Given the description of an element on the screen output the (x, y) to click on. 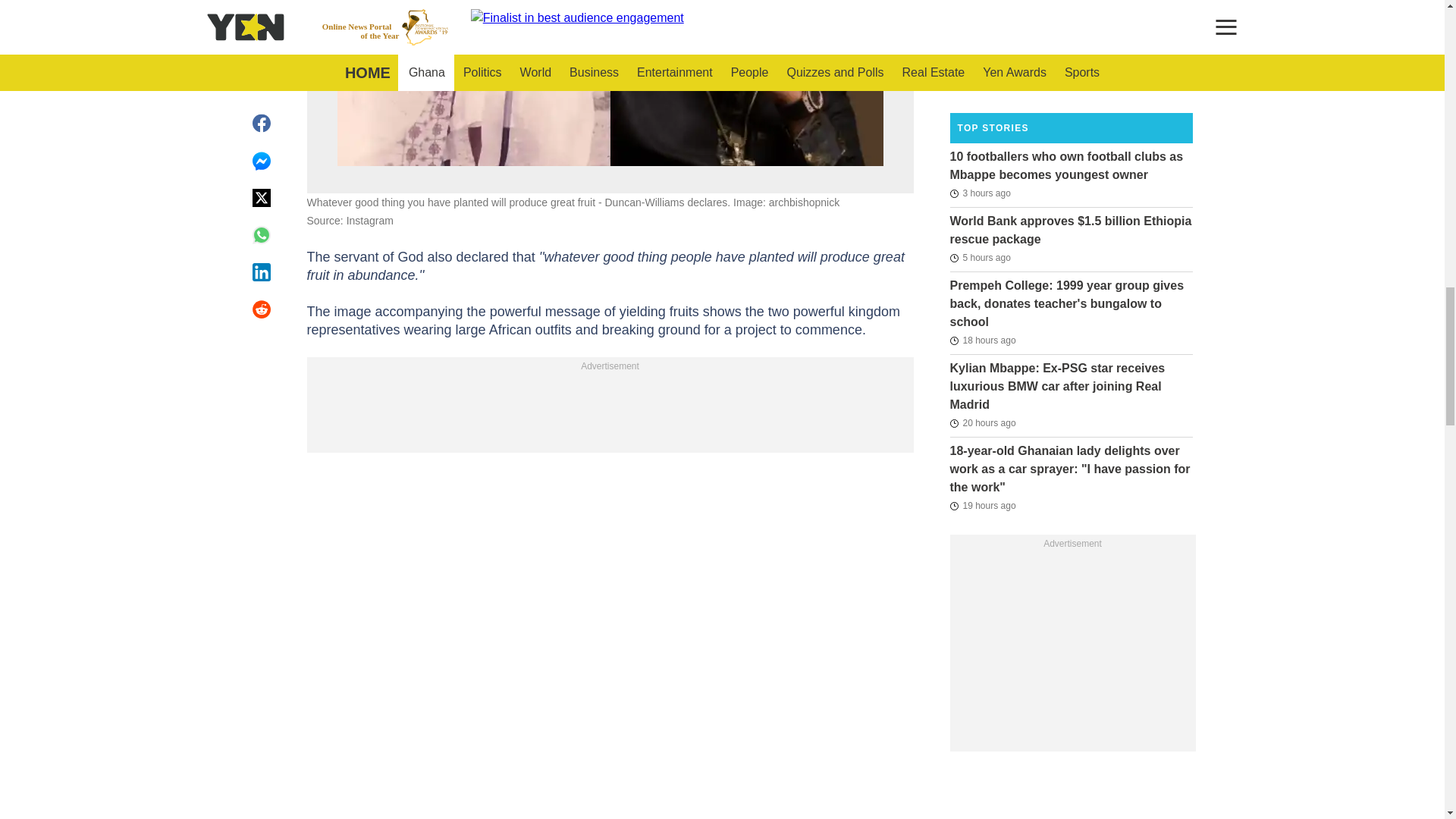
2024-07-31T08:10:19Z (979, 257)
2024-07-31T10:14:43Z (979, 193)
2024-07-30T17:23:11Z (981, 423)
2019-10-21T17:41:08Z (979, 5)
2024-05-20T13:39:29Z (983, 84)
2024-07-30T18:54:28Z (981, 340)
2024-07-30T18:33:11Z (981, 505)
